Given the description of an element on the screen output the (x, y) to click on. 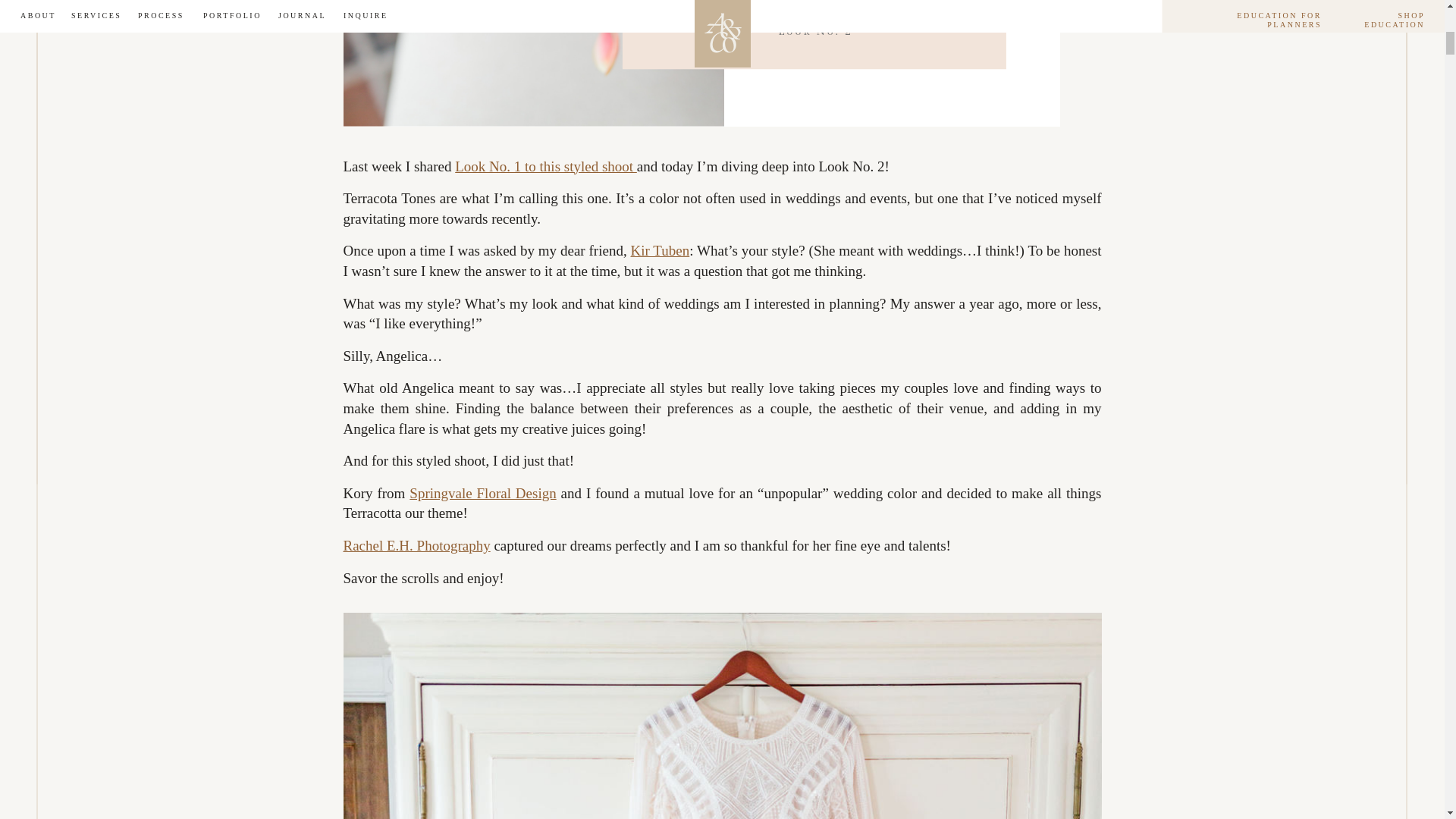
Rachel E.H. Photography (415, 545)
Springvale Floral Design (482, 493)
Look No. 1 to this styled shoot  (545, 166)
Kir Tuben (660, 250)
